Given the description of an element on the screen output the (x, y) to click on. 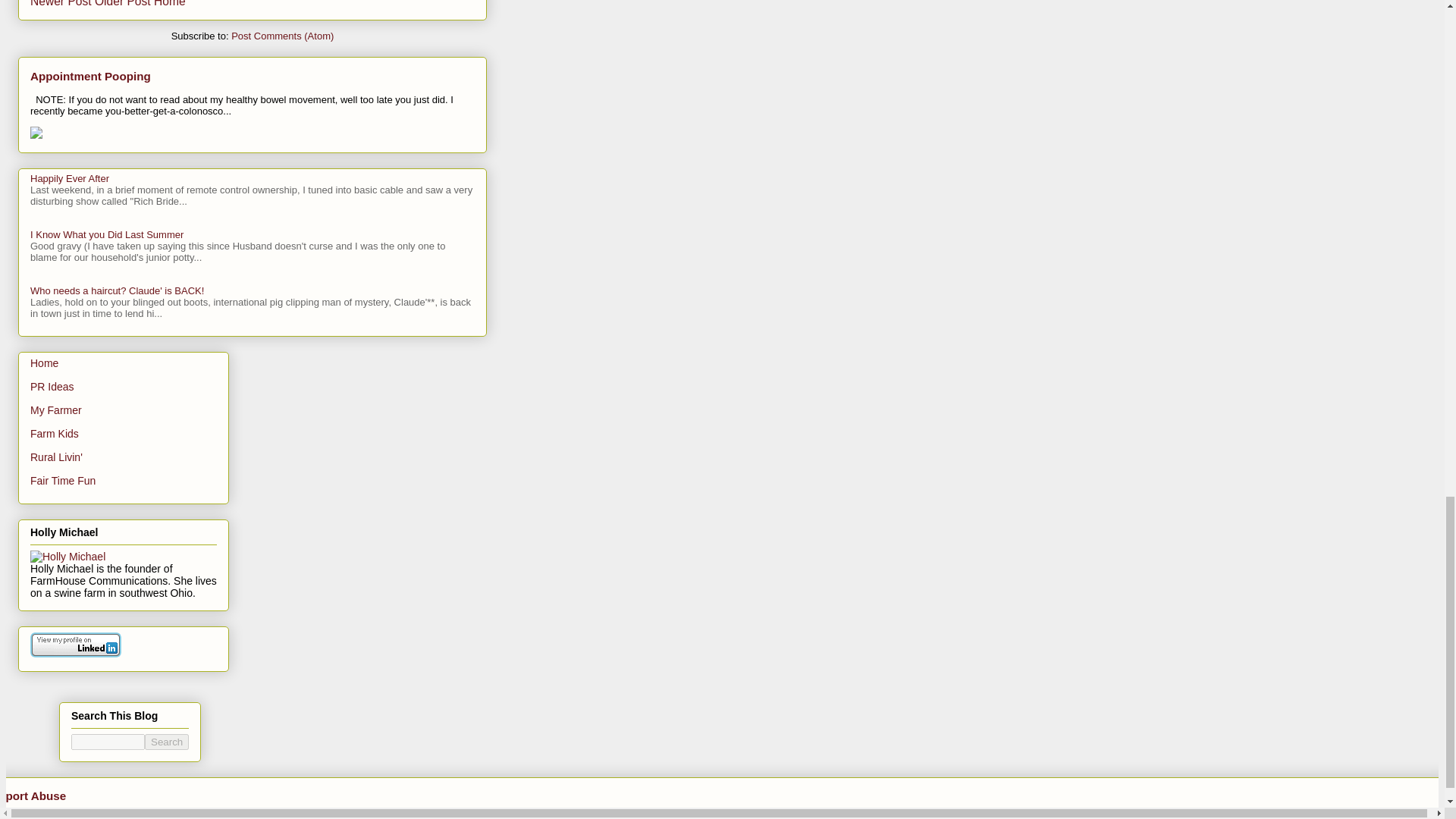
Home (170, 3)
search (166, 741)
search (107, 741)
PR Ideas (52, 386)
Home (44, 363)
Search (166, 741)
Report Abuse (32, 795)
Appointment Pooping (90, 75)
Search (166, 741)
Search (166, 741)
Newer Post (60, 3)
Happily Ever After (69, 178)
My Farmer (55, 410)
I Know What you Did Last Summer (106, 234)
Who needs a haircut? Claude' is BACK! (116, 290)
